Given the description of an element on the screen output the (x, y) to click on. 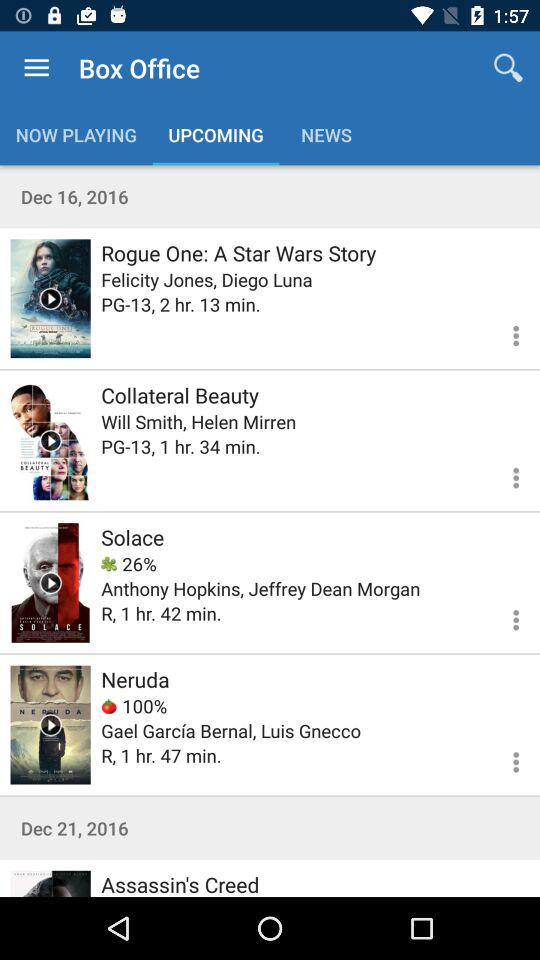
select movie page (50, 883)
